Given the description of an element on the screen output the (x, y) to click on. 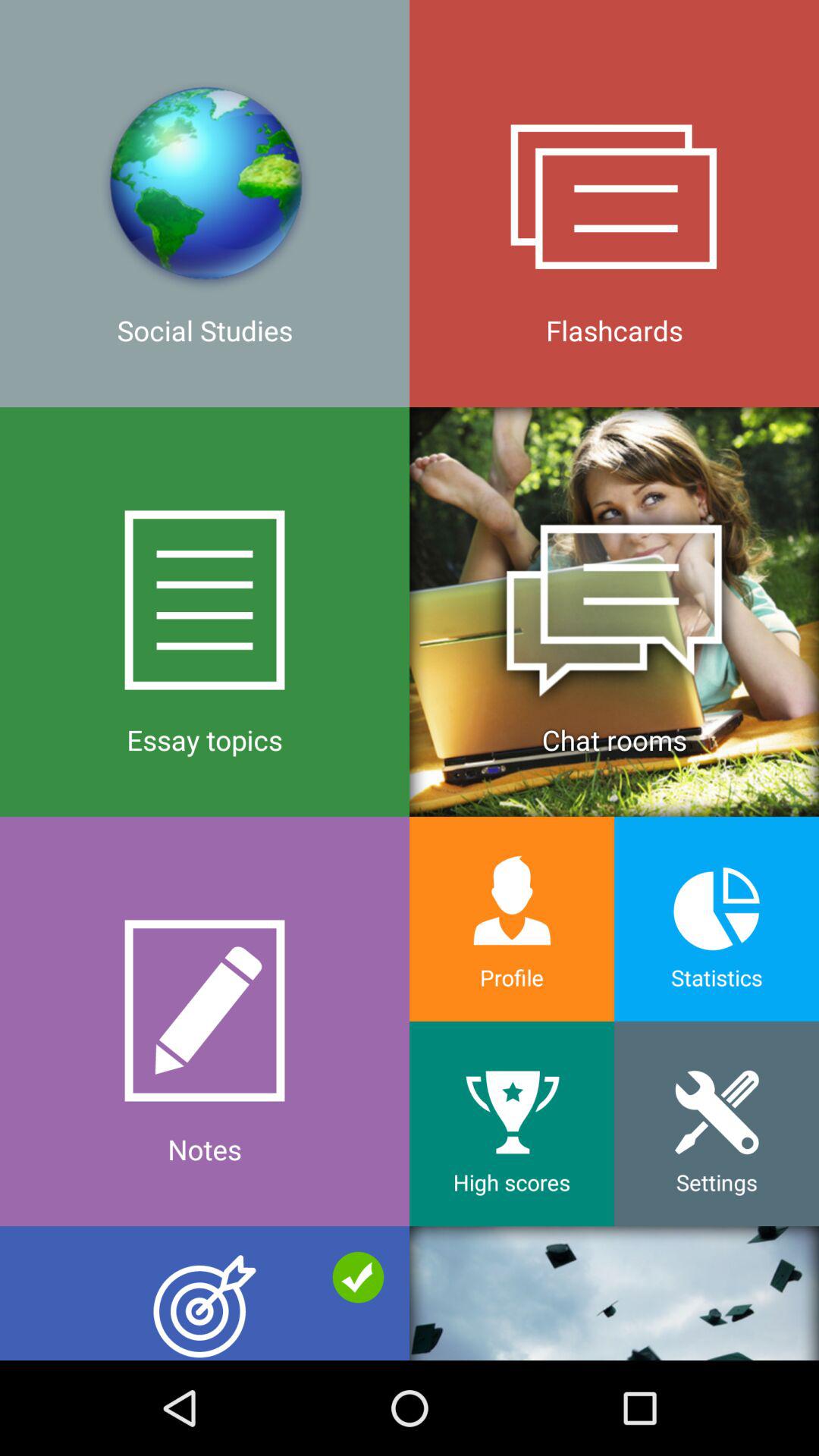
open icon to the left of the high scores app (204, 1293)
